Given the description of an element on the screen output the (x, y) to click on. 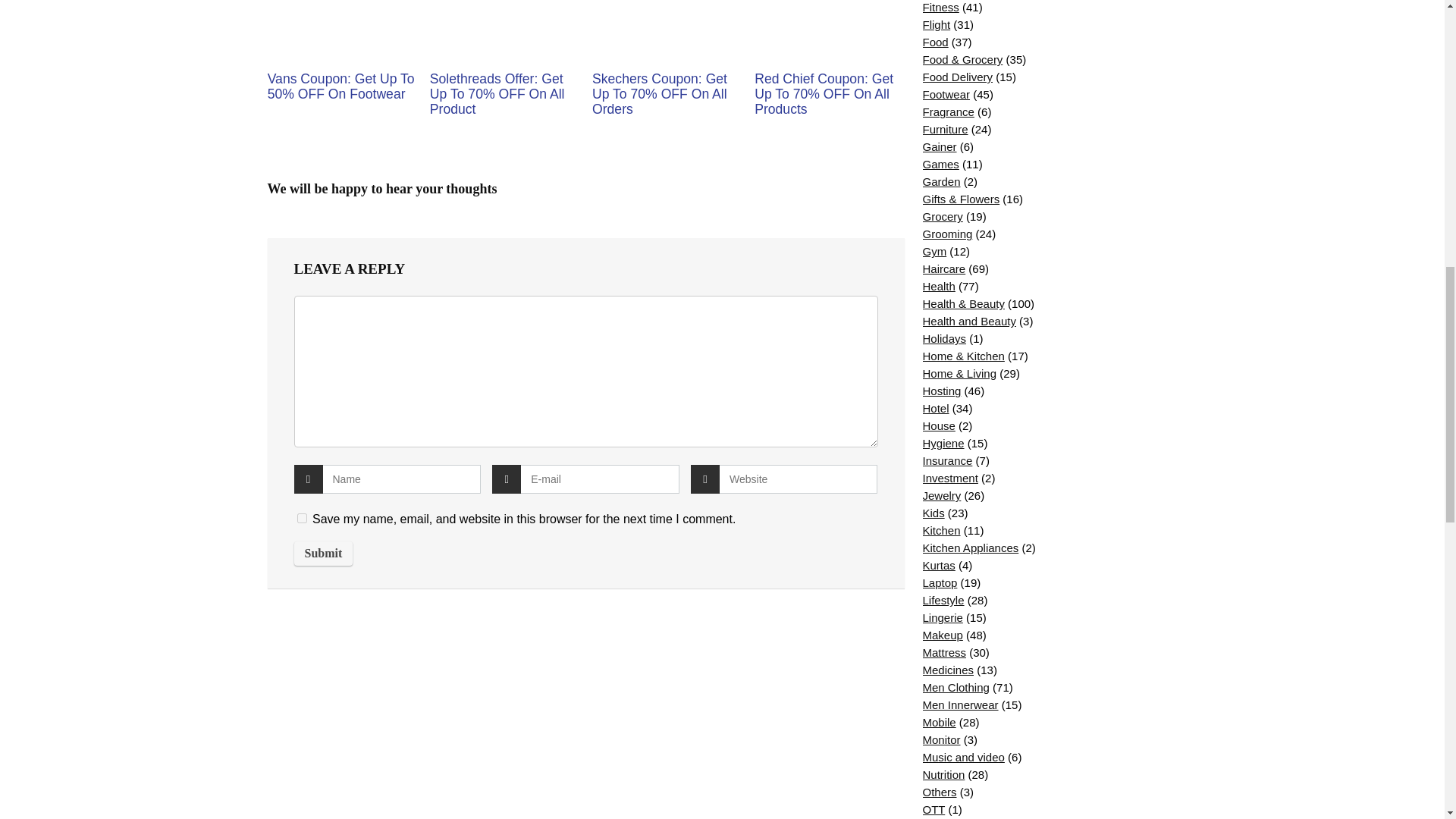
yes (302, 518)
Submit (323, 553)
Submit (323, 553)
